Given the description of an element on the screen output the (x, y) to click on. 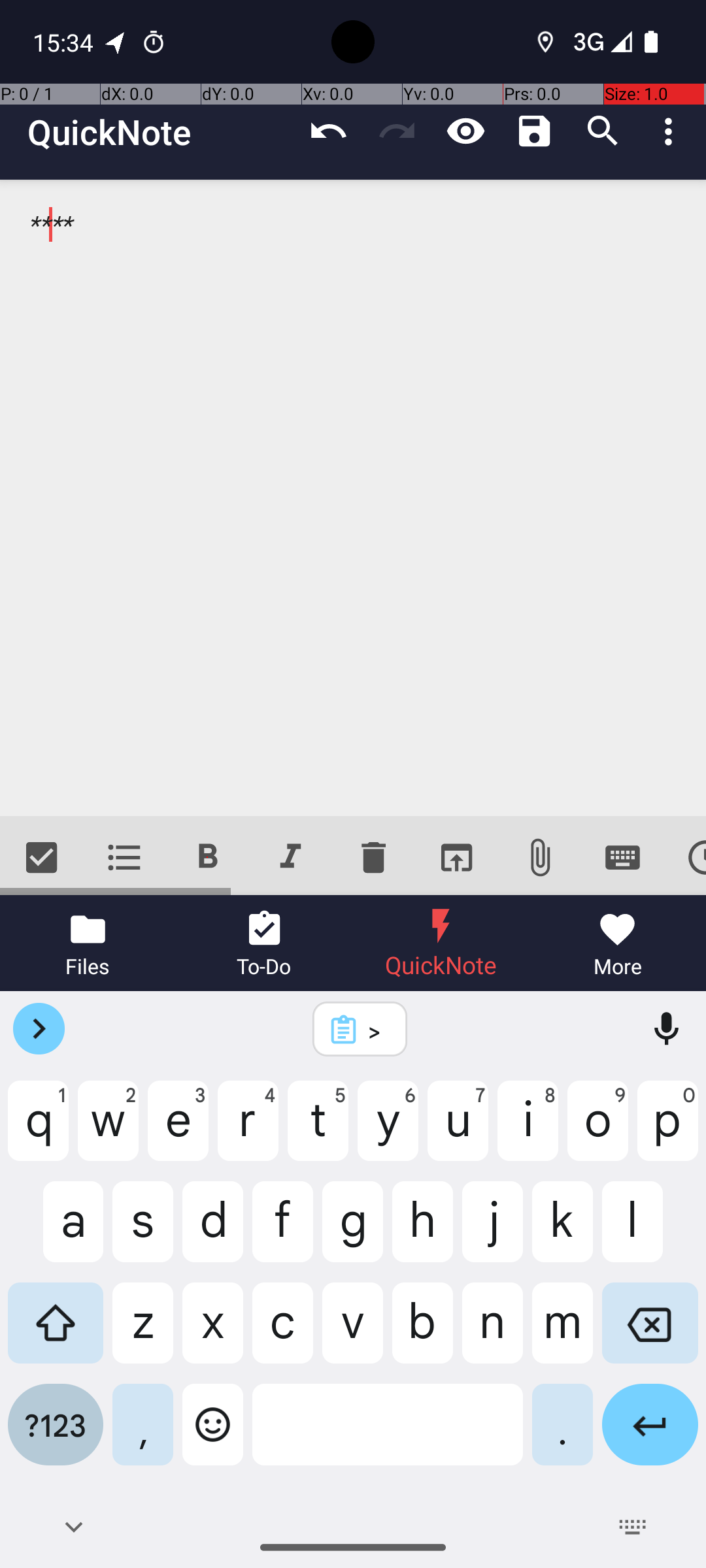
**** Element type: android.widget.EditText (353, 497)
>  Element type: android.widget.TextView (377, 1029)
